Given the description of an element on the screen output the (x, y) to click on. 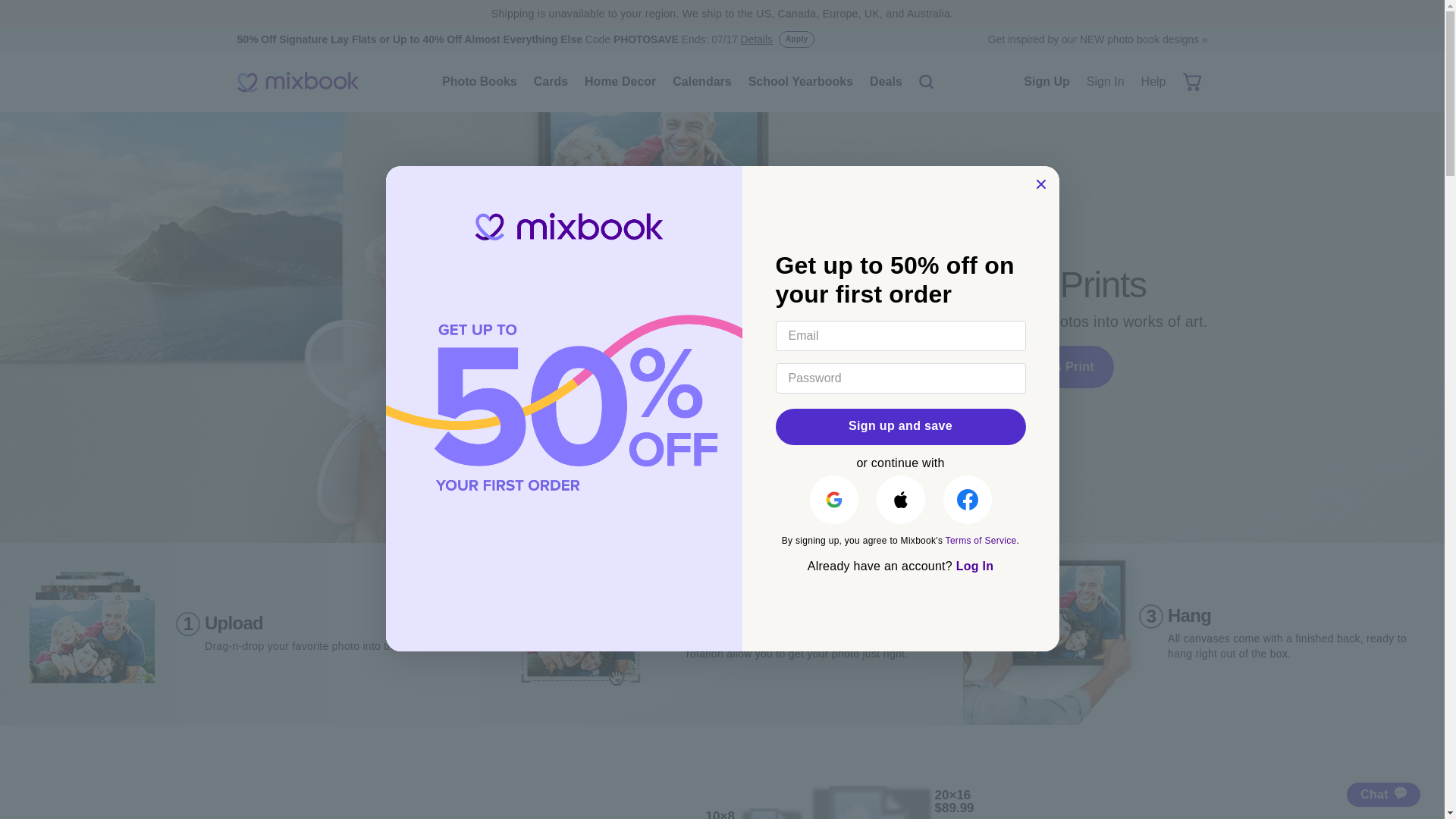
Deals (885, 81)
Cards (550, 81)
Help (1153, 81)
Photo Books (479, 81)
Start your Canvas Print (1023, 367)
Calendars (701, 81)
Mixbook (296, 81)
Apply (795, 39)
Details (756, 39)
Sign Up (1046, 81)
Sign In (1105, 81)
Home Decor (620, 81)
School Yearbooks (800, 81)
